Given the description of an element on the screen output the (x, y) to click on. 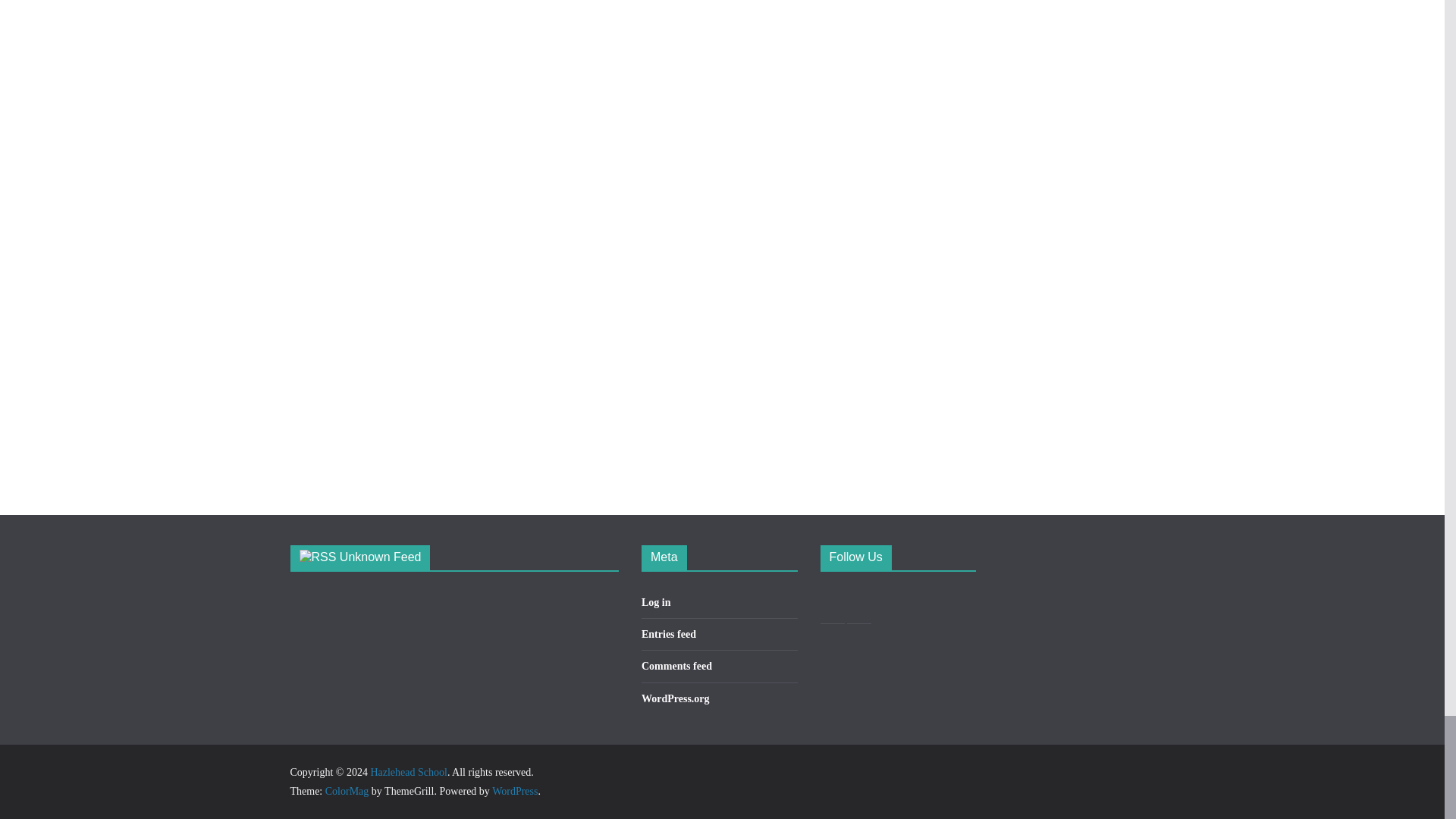
WordPress (514, 790)
Hazlehead School (407, 772)
ColorMag (346, 790)
